Given the description of an element on the screen output the (x, y) to click on. 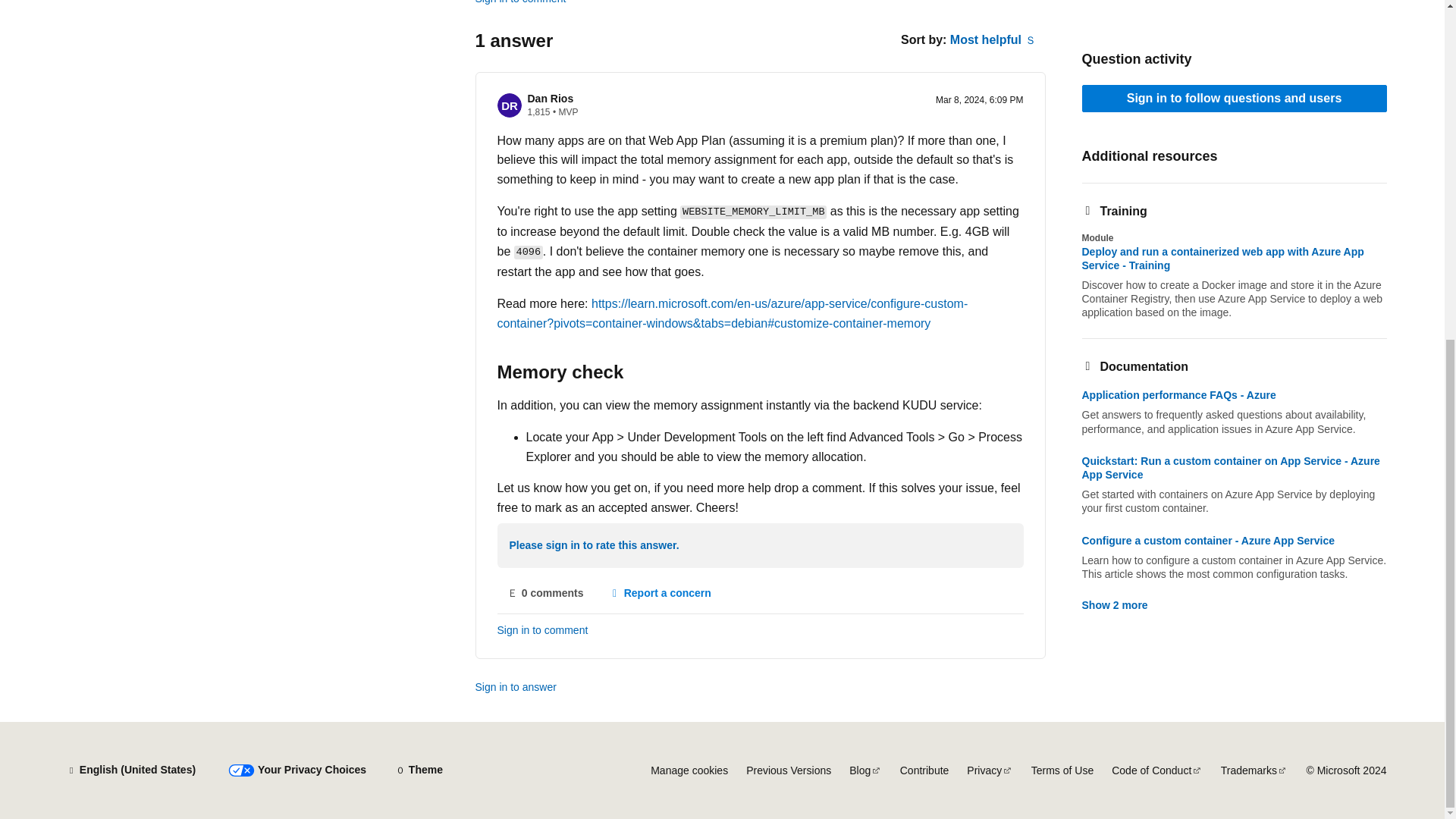
Report a concern (659, 593)
Theme (419, 770)
No comments (545, 593)
Reputation points (538, 112)
